Given the description of an element on the screen output the (x, y) to click on. 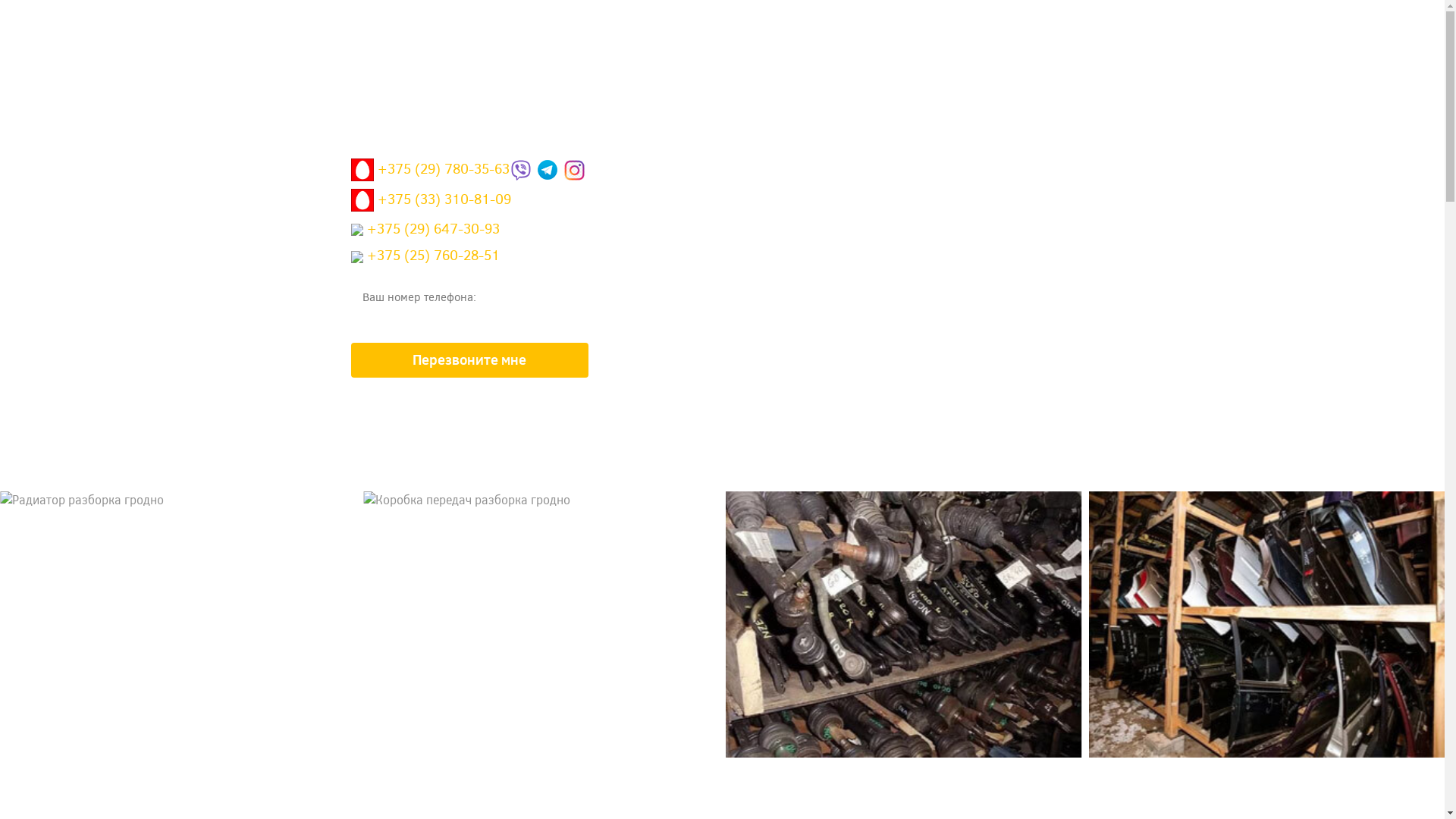
+375 (29) 647-30-93 Element type: text (424, 232)
+375 (29) 780-35-63 Element type: text (429, 173)
+375 (33) 310-81-09 Element type: text (430, 203)
+375 (25) 760-28-51 Element type: text (424, 259)
